Given the description of an element on the screen output the (x, y) to click on. 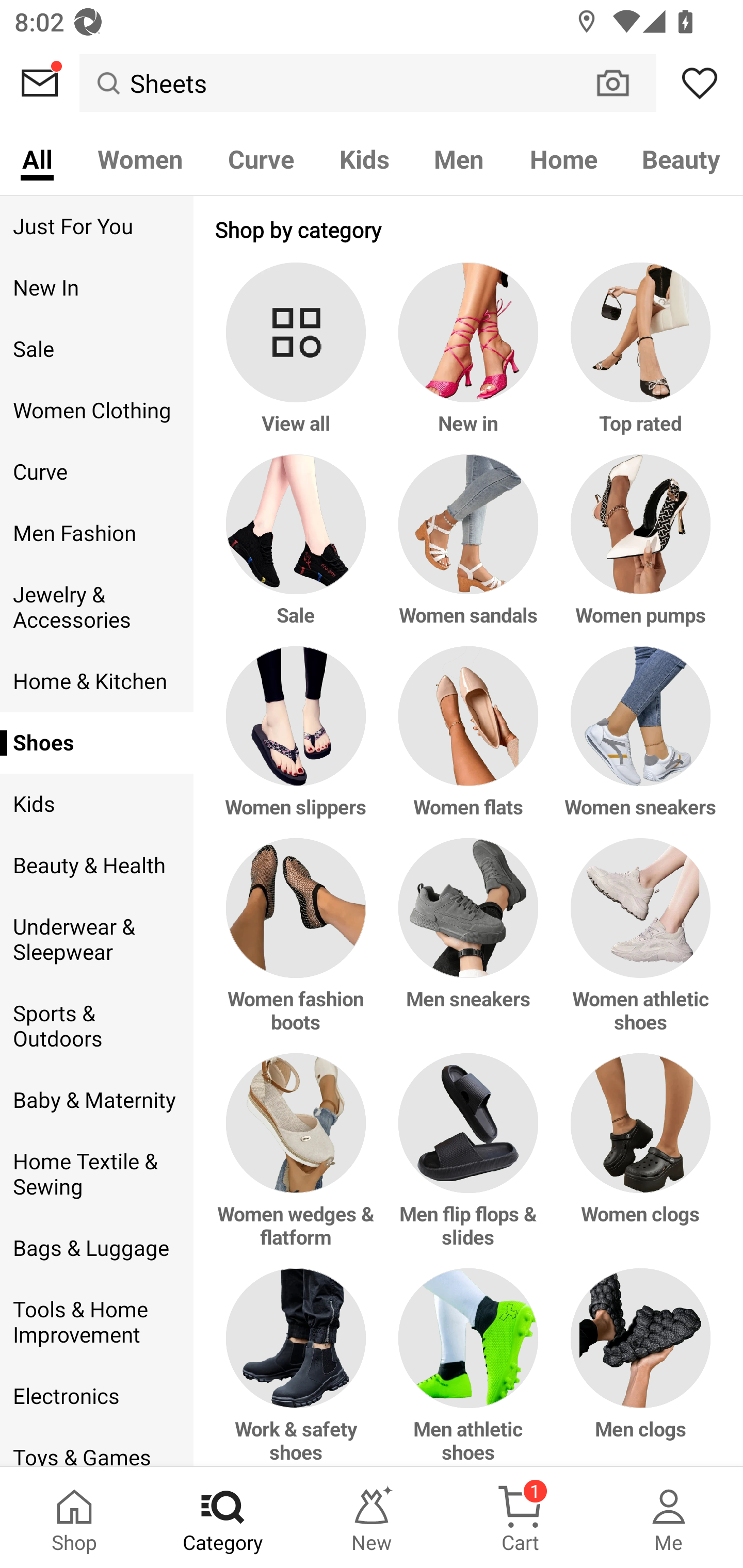
Wishlist (699, 82)
VISUAL SEARCH (623, 82)
All (37, 158)
Women (139, 158)
Curve (260, 158)
Kids (363, 158)
Men (458, 158)
Home (563, 158)
Beauty (681, 158)
Just For You (96, 226)
Shop by category (468, 228)
New In (96, 287)
View all (299, 357)
New in (468, 357)
Top rated (636, 357)
Sale (96, 348)
Women Clothing (96, 410)
Curve (96, 472)
Sale (299, 550)
Women sandals (468, 550)
Women pumps (636, 550)
Men Fashion (96, 533)
Jewelry & Accessories (96, 607)
Women slippers (299, 742)
Women flats (468, 742)
Women sneakers (636, 742)
Home & Kitchen (96, 680)
Shoes (96, 742)
Kids (96, 804)
Beauty & Health (96, 865)
Women fashion boots (299, 945)
Men sneakers (468, 945)
Women athletic shoes (636, 945)
Underwear & Sleepwear (96, 939)
Sports & Outdoors (96, 1026)
Women wedges & flatform (299, 1160)
Men flip flops & slides (468, 1160)
Women clogs (636, 1160)
Baby & Maternity (96, 1099)
Home Textile & Sewing (96, 1174)
Bags & Luggage (96, 1248)
Work & safety shoes (299, 1367)
Men athletic shoes (468, 1367)
Men clogs (636, 1367)
Tools & Home Improvement (96, 1322)
Electronics (96, 1395)
Toys & Games (96, 1446)
Shop (74, 1517)
New (371, 1517)
Cart 1 Cart (519, 1517)
Me (668, 1517)
